Given the description of an element on the screen output the (x, y) to click on. 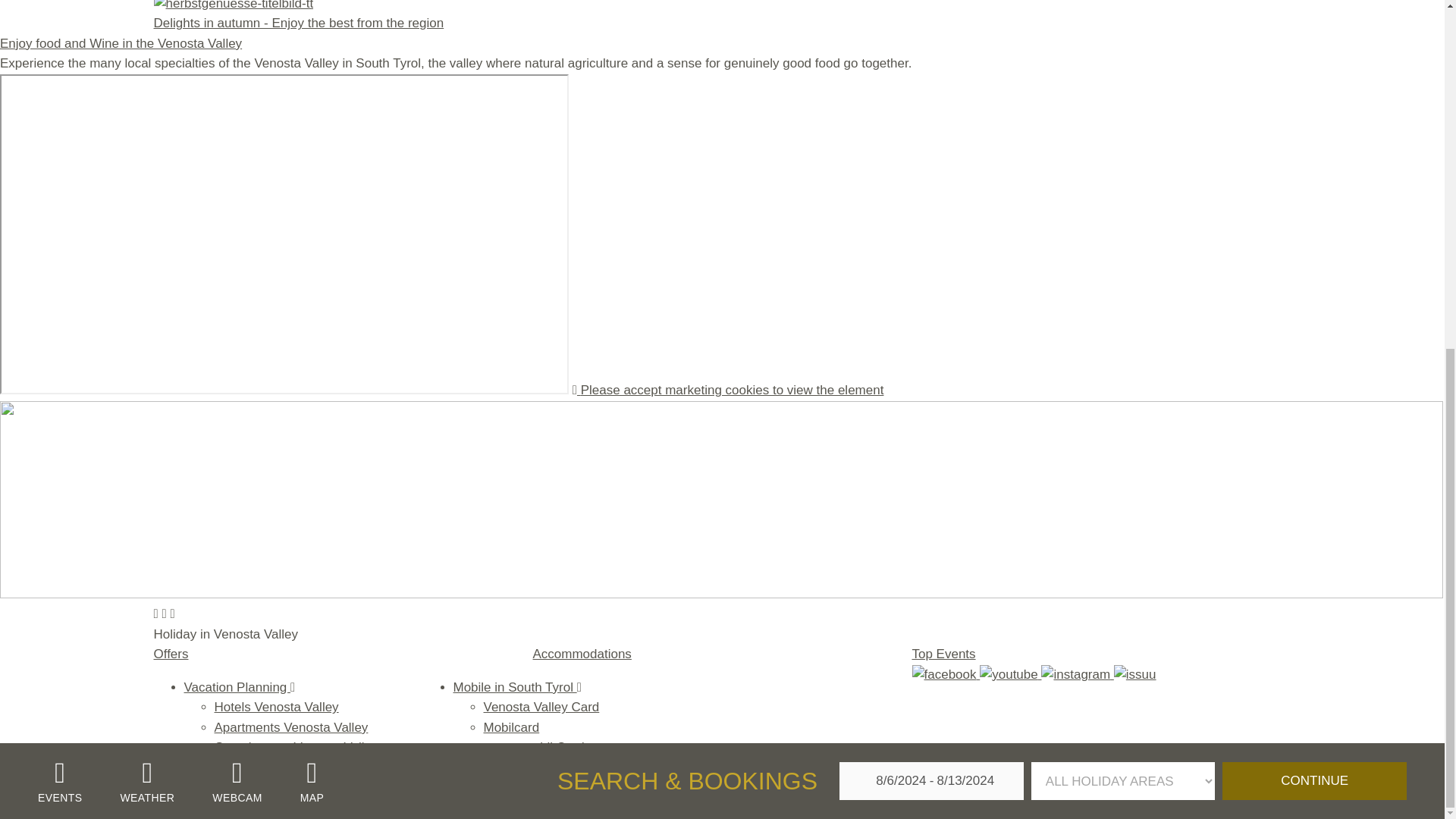
Instagram (1077, 674)
Facebook (945, 674)
consisto.it (608, 785)
Enjoy food and Wine in the Venosta Valley (120, 43)
Youtube (1010, 674)
Issuu (1134, 674)
